Given the description of an element on the screen output the (x, y) to click on. 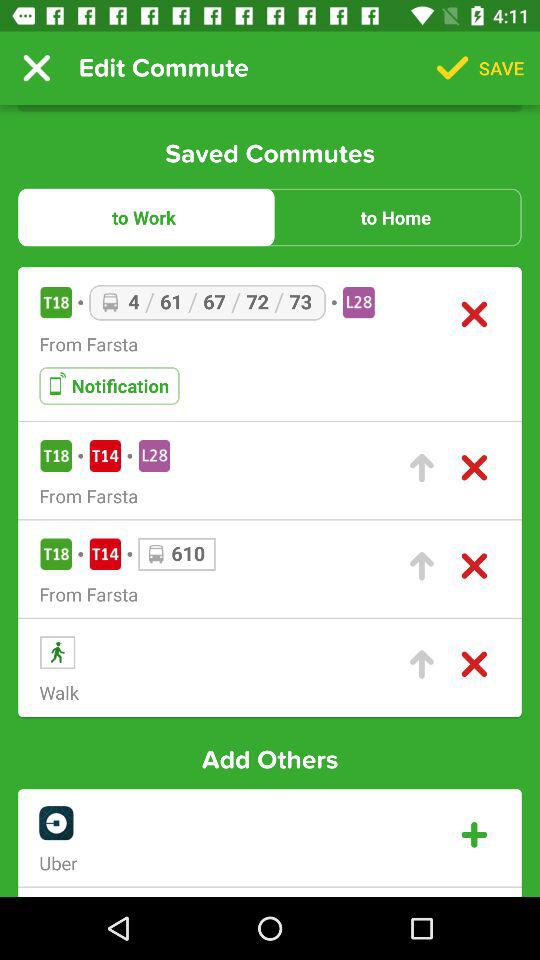
remove a route from the list (474, 566)
